Given the description of an element on the screen output the (x, y) to click on. 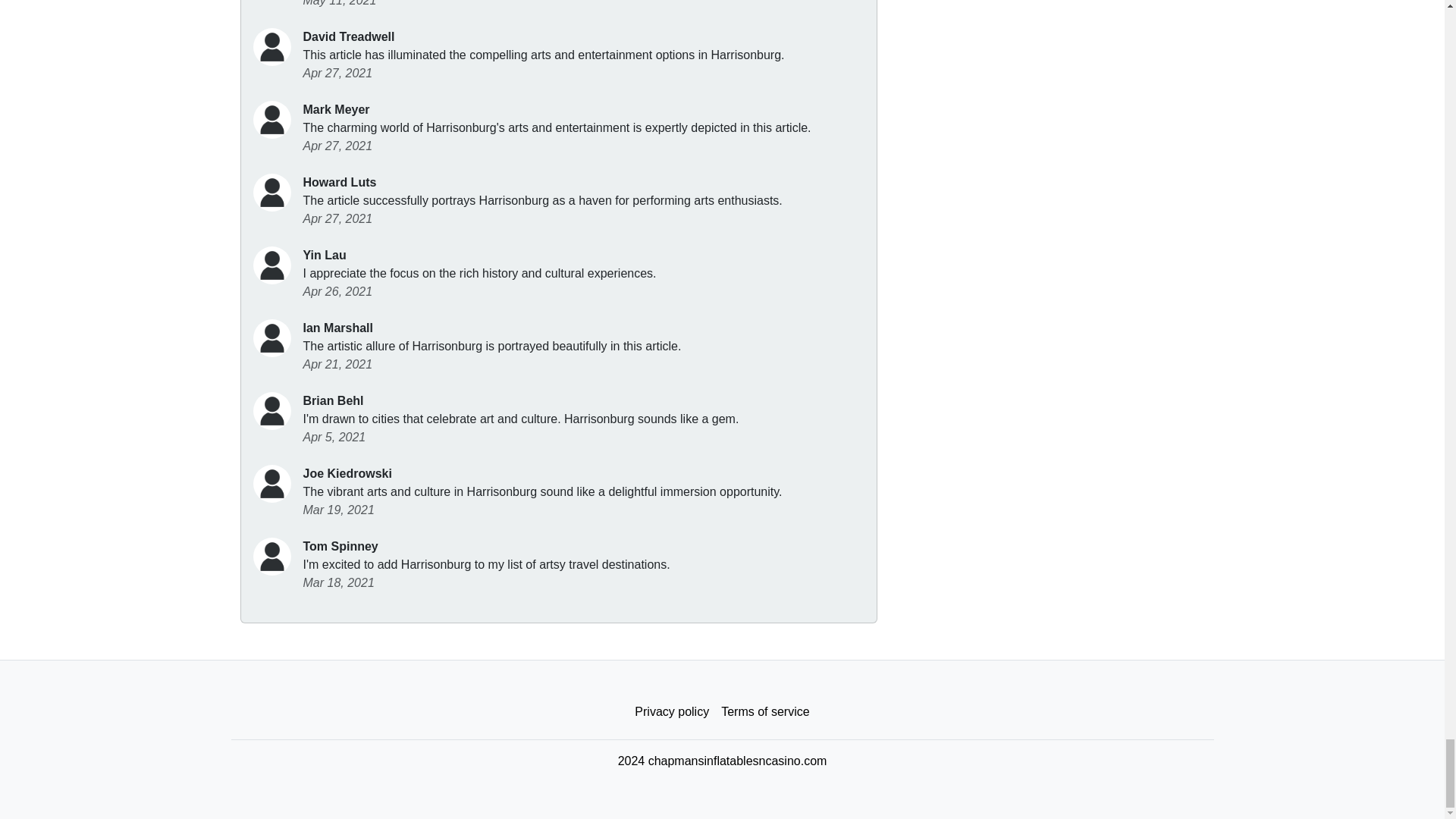
Privacy policy (671, 711)
Terms of service (764, 711)
